Given the description of an element on the screen output the (x, y) to click on. 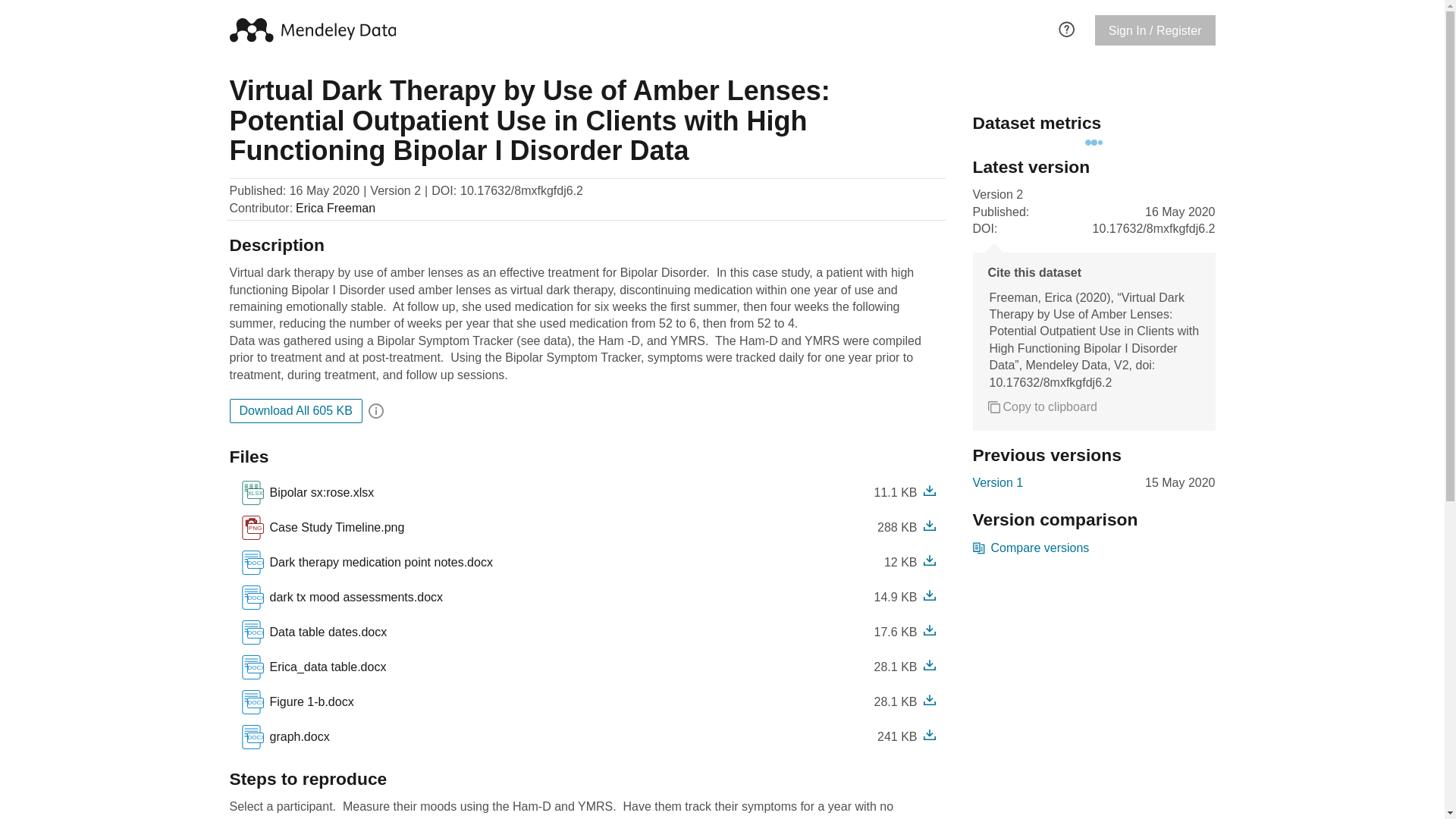
Compare versions (307, 492)
Copy to clipboard (1030, 547)
Version 1 (1042, 406)
Dark therapy medication point notes.docx (366, 562)
Download All 605 KB (997, 483)
Data table dates.docx (378, 562)
